Given the description of an element on the screen output the (x, y) to click on. 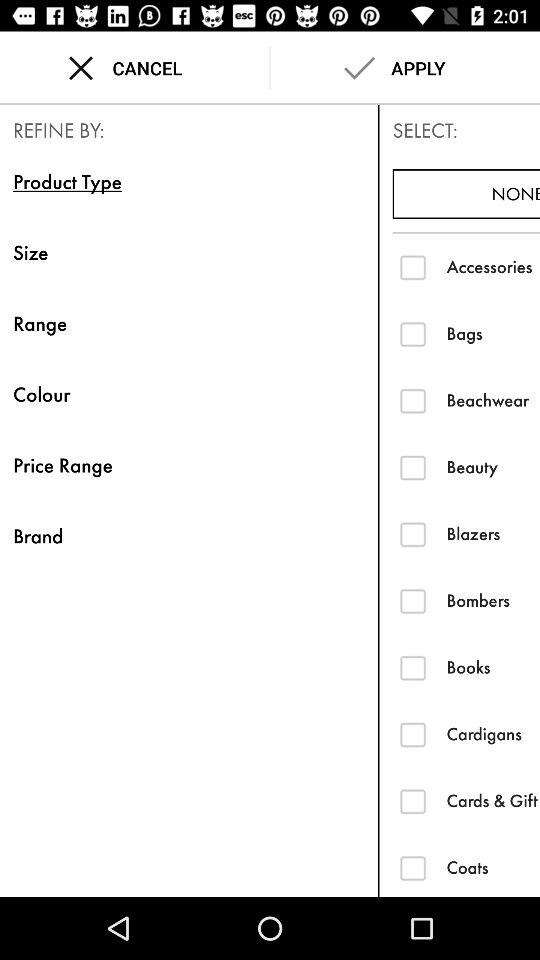
select cardigans filter (412, 734)
